Given the description of an element on the screen output the (x, y) to click on. 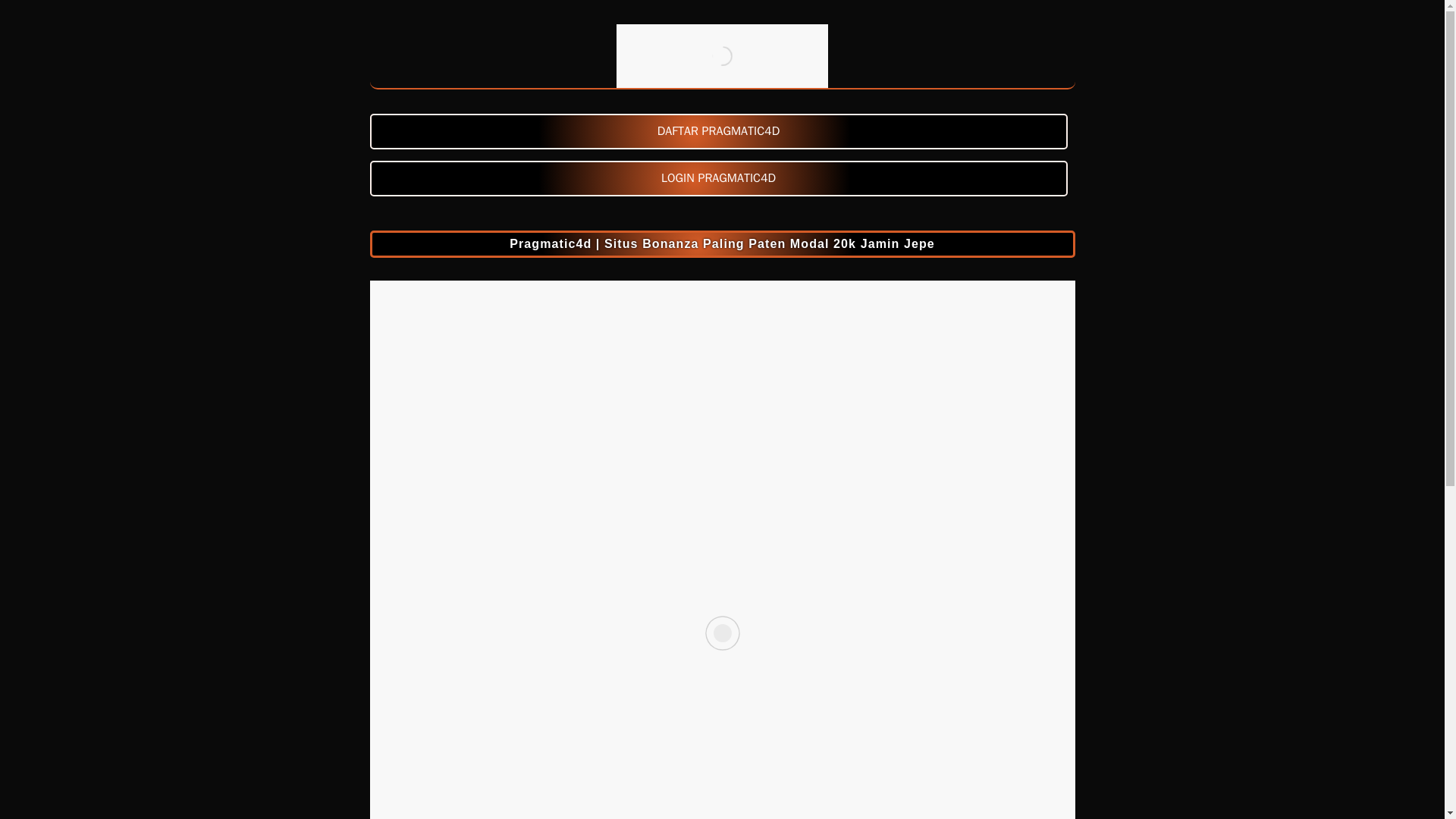
DAFTAR PRAGMATIC4D (722, 131)
PRAGMATIC4D (722, 55)
LOGIN PRAGMATIC4D (722, 178)
